Given the description of an element on the screen output the (x, y) to click on. 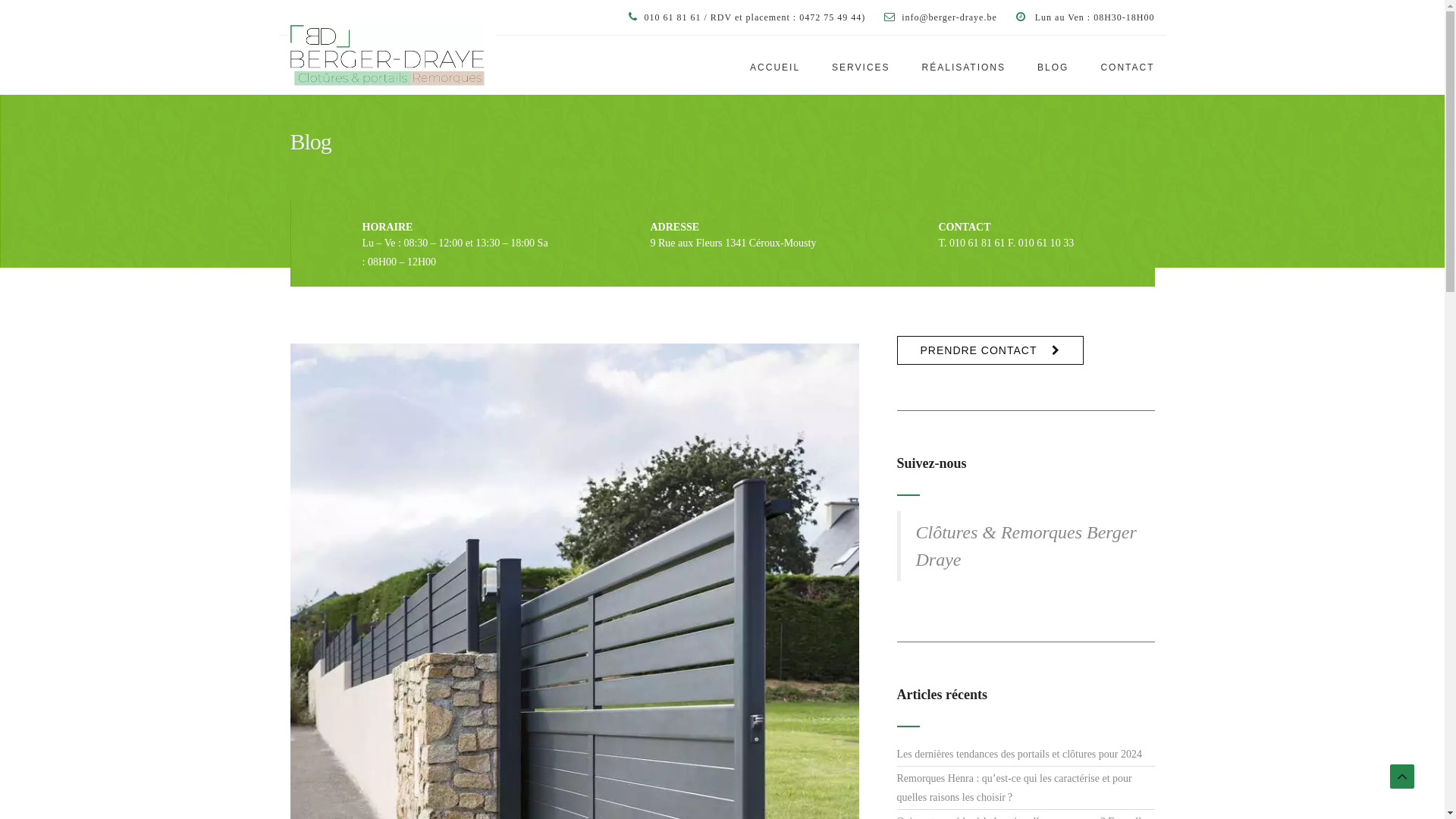
CONTACT Element type: text (1119, 65)
PRENDRE CONTACT Element type: text (989, 349)
SERVICES Element type: text (861, 65)
BLOG Element type: text (1053, 65)
ACCUEIL Element type: text (775, 65)
